Given the description of an element on the screen output the (x, y) to click on. 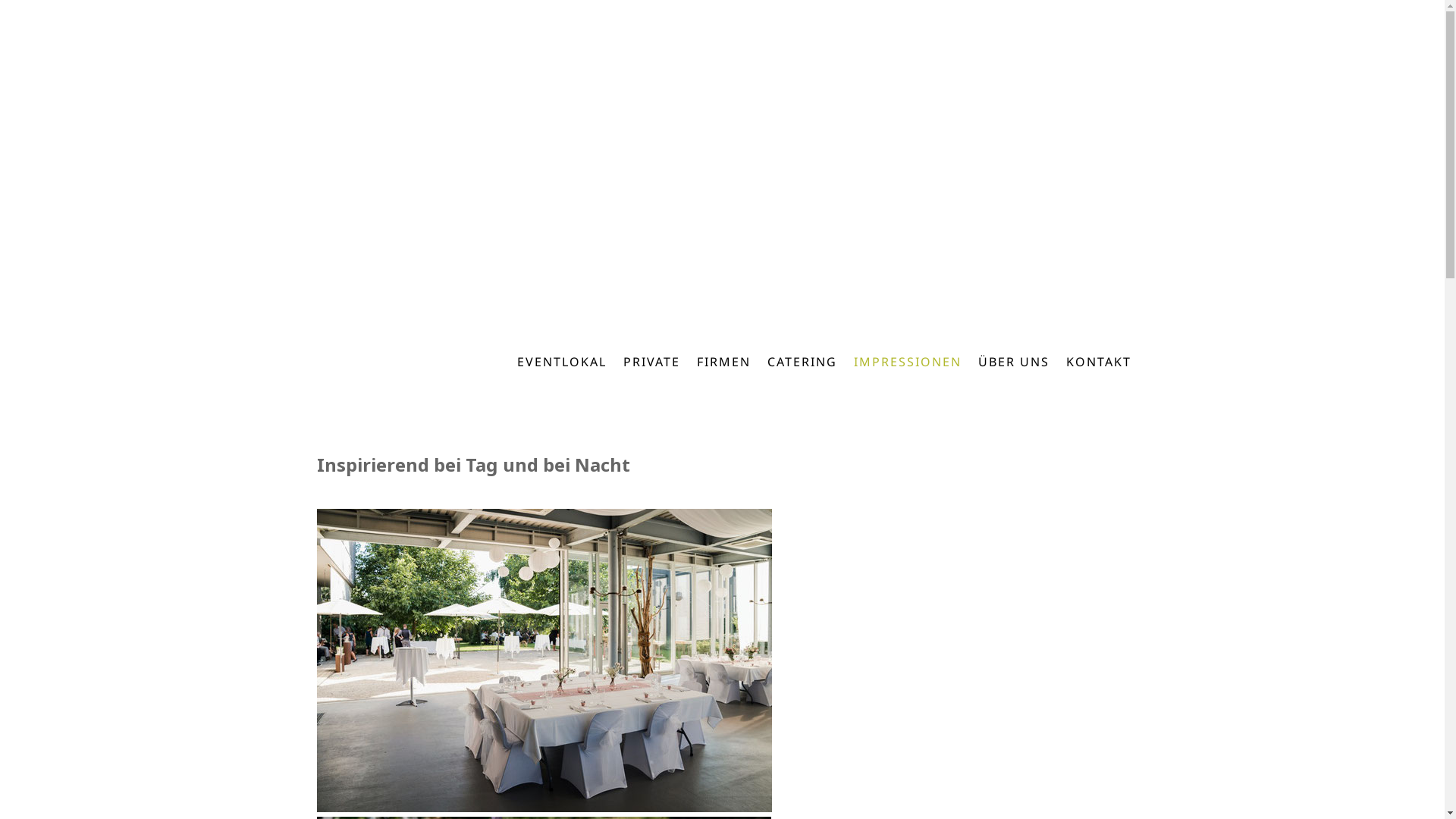
FIRMEN Element type: text (723, 361)
amboz Werk- und Eventhalle Element type: text (657, 159)
CATERING Element type: text (801, 361)
EVENTLOKAL Element type: text (561, 361)
IMPRESSIONEN Element type: text (906, 361)
PRIVATE Element type: text (650, 361)
KONTAKT Element type: text (1098, 361)
